Given the description of an element on the screen output the (x, y) to click on. 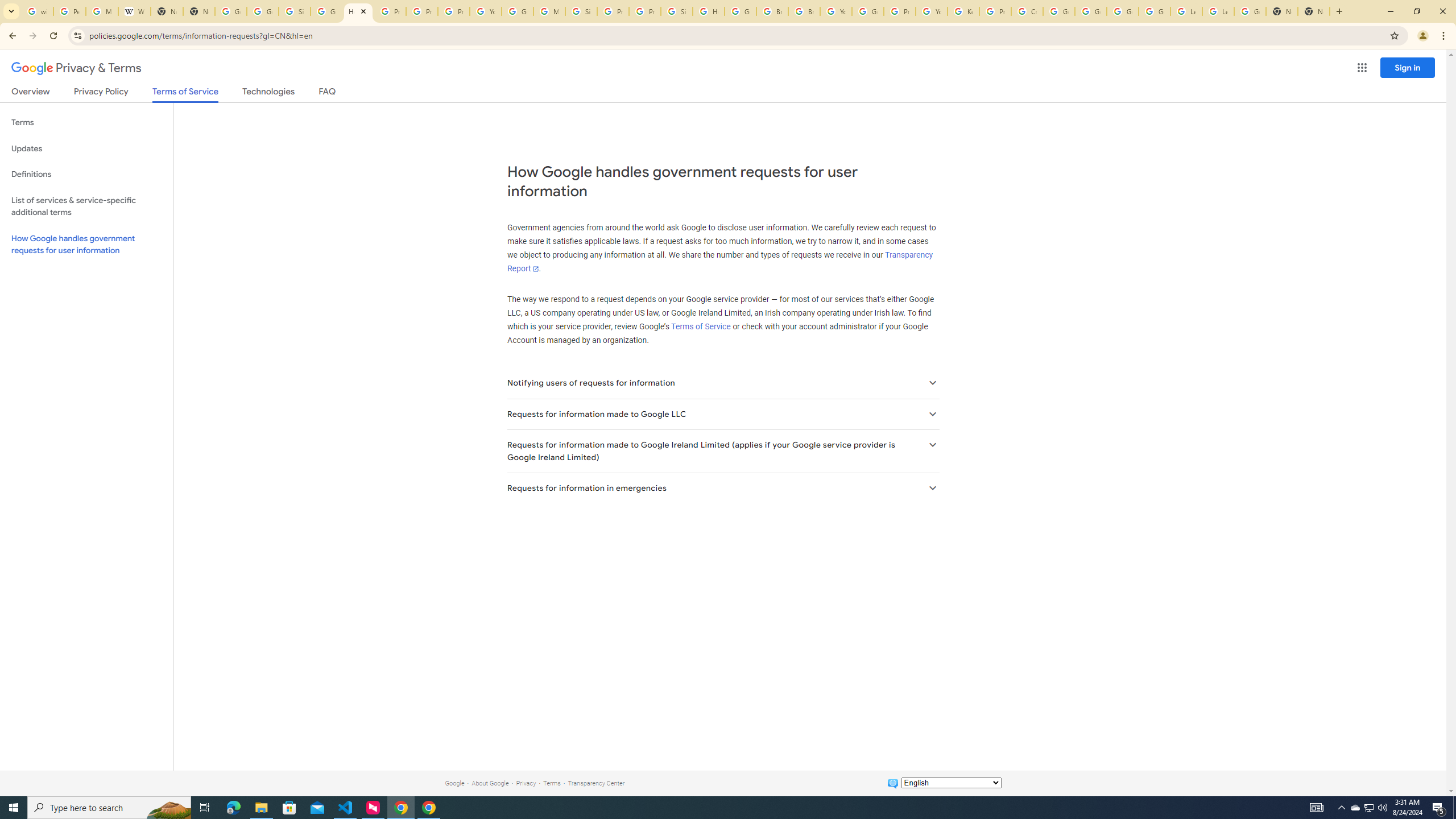
Create your Google Account (1027, 11)
Google (454, 783)
Wikipedia:Edit requests - Wikipedia (134, 11)
